Given the description of an element on the screen output the (x, y) to click on. 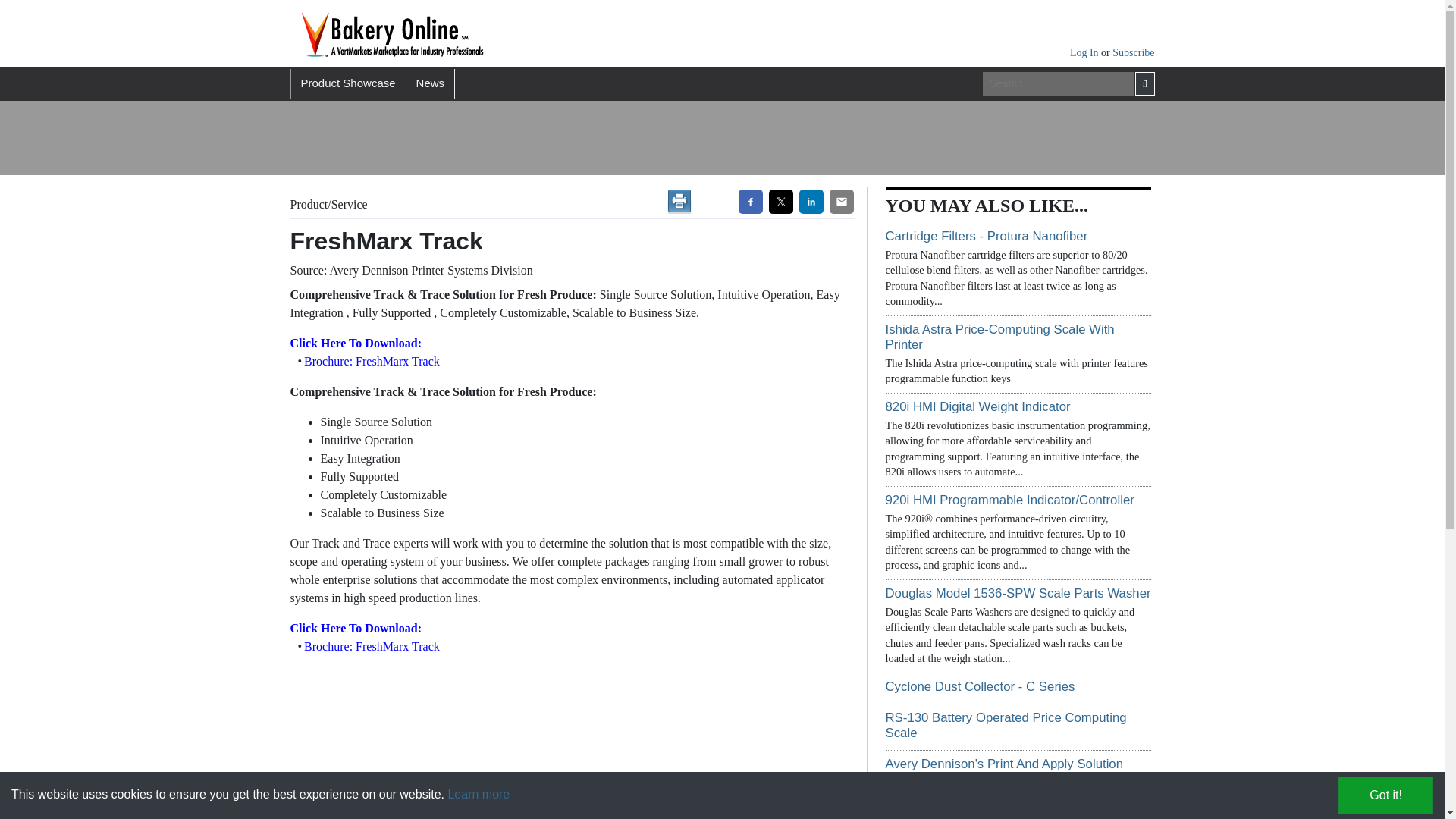
Cartridge Filters - Protura Nanofiber (986, 236)
820i HMI Digital Weight Indicator (977, 406)
News (430, 83)
RS-130 Battery Operated Price Computing Scale (1005, 725)
Subscribe (1133, 52)
Learn more (477, 793)
Douglas Model 1536-SPW Scale Parts Washer (1018, 593)
Cyclone Dust Collector - C Series (980, 686)
3rd party ad content (623, 137)
Brochure: FreshMarx Track (370, 645)
Got it! (1385, 795)
Ishida Astra Price-Computing Scale With Printer (1000, 337)
Brochure: FreshMarx Track (370, 360)
Log In (1085, 52)
Print (679, 201)
